Given the description of an element on the screen output the (x, y) to click on. 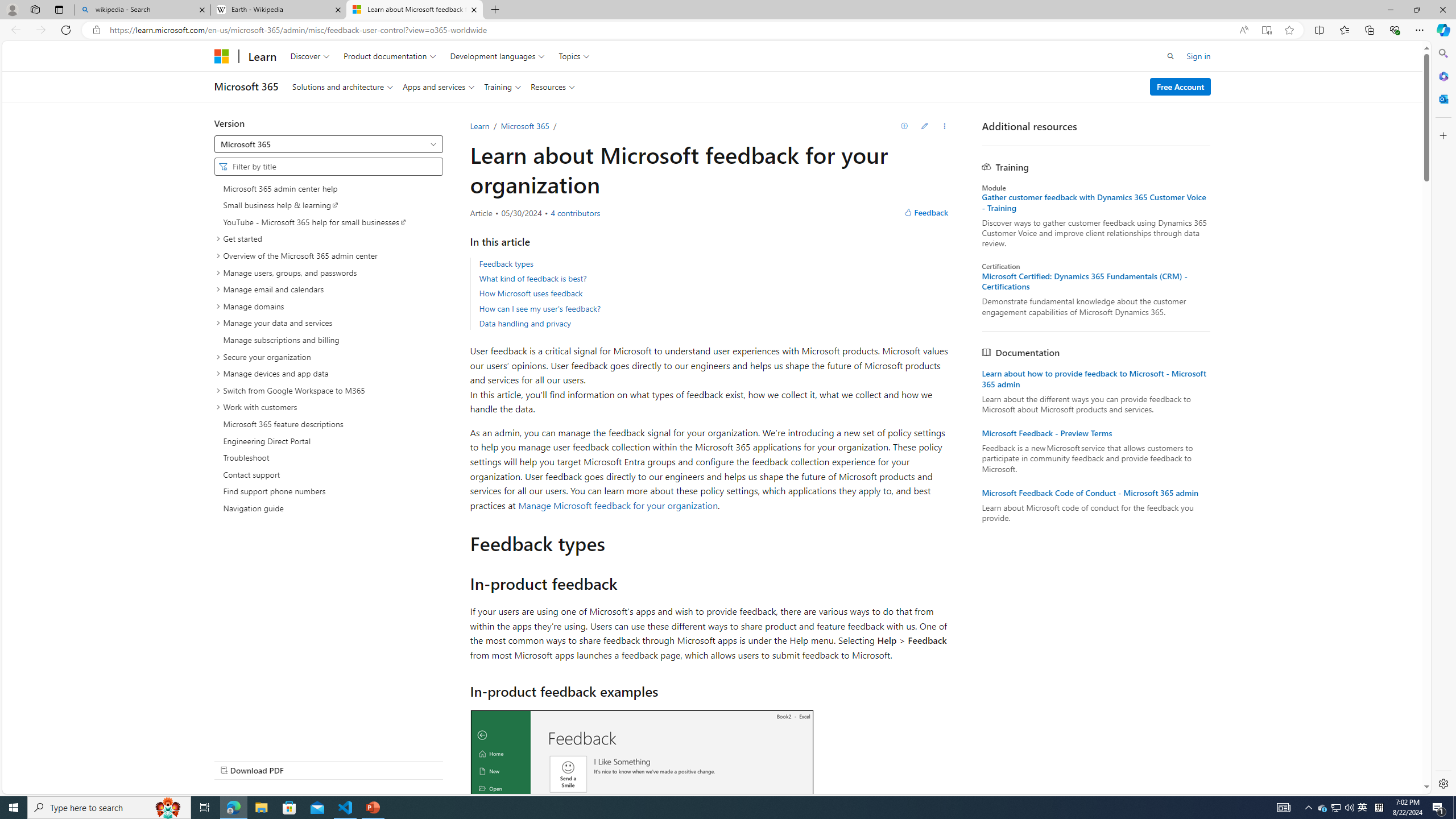
Add this page to favorites (Ctrl+D) (1289, 29)
Sign in (1198, 55)
Microsoft (221, 55)
Product documentation (389, 55)
View site information (96, 29)
Topics (574, 55)
Personal Profile (12, 9)
Enter Immersive Reader (F9) (1266, 29)
Earth - Wikipedia (277, 9)
